Given the description of an element on the screen output the (x, y) to click on. 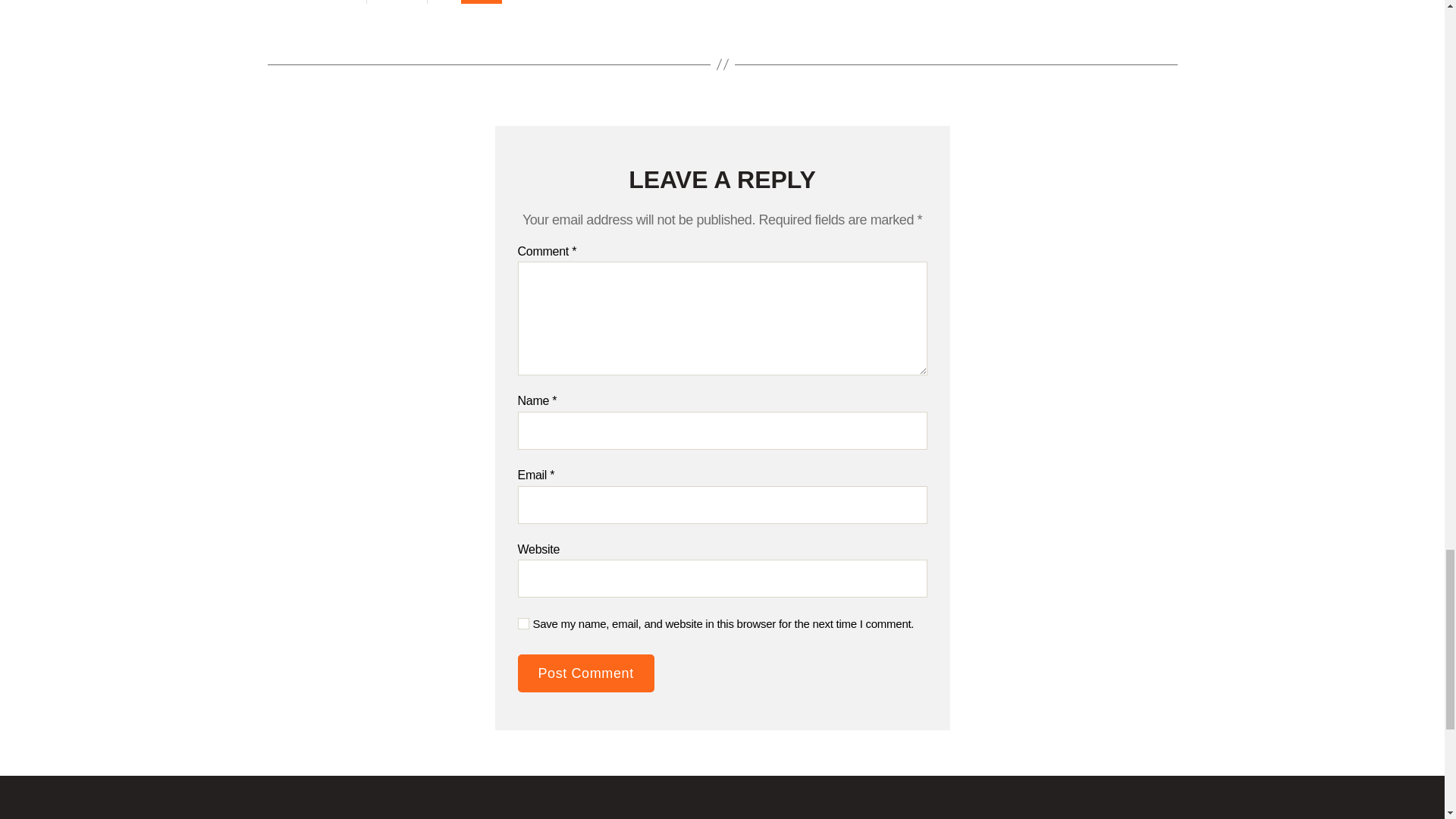
REPLY (481, 2)
yes (522, 623)
REPLY (481, 2)
Post Comment (584, 673)
Post Comment (584, 673)
